Given the description of an element on the screen output the (x, y) to click on. 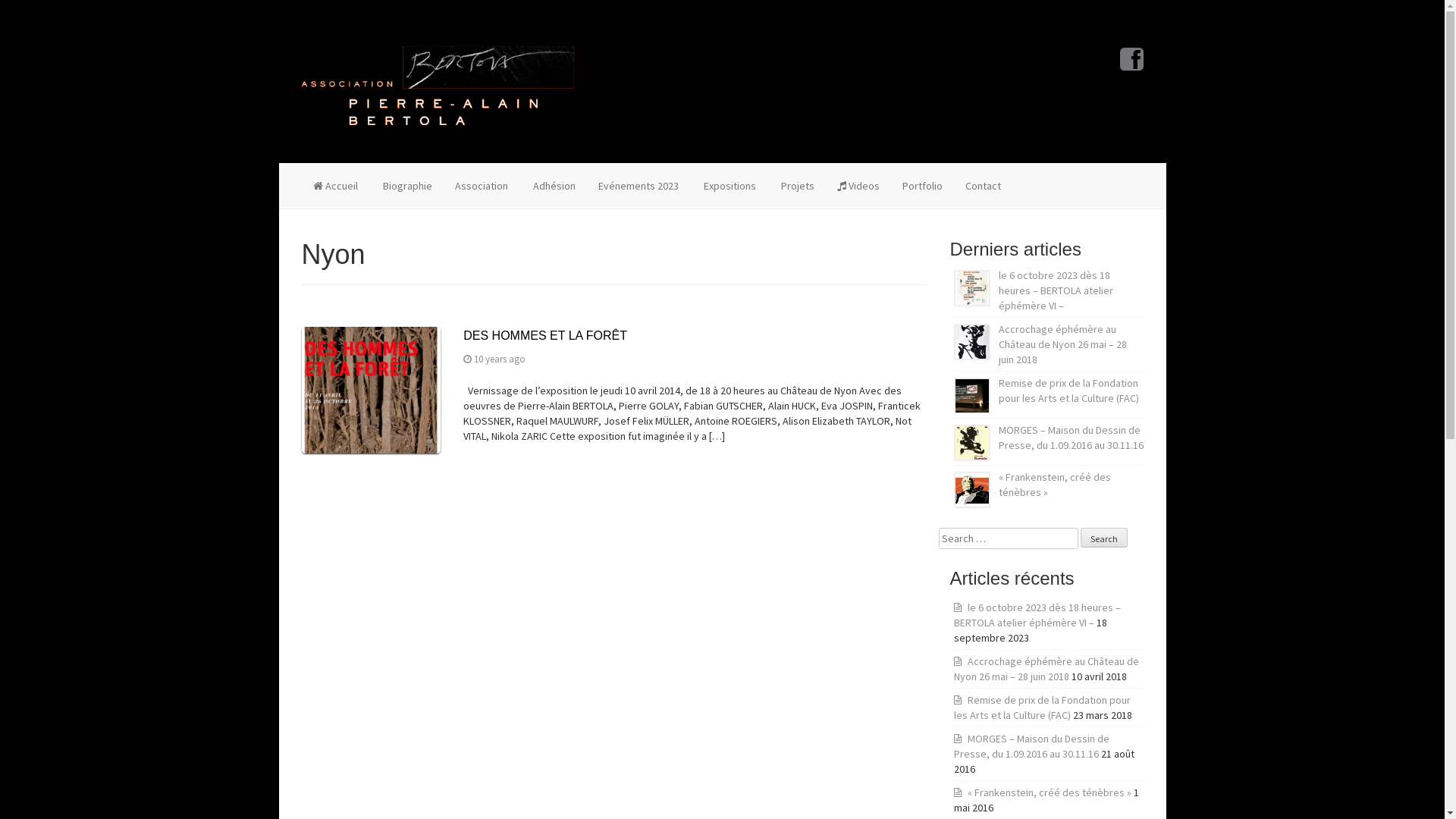
Association Pierre-Alain Bertola Element type: hover (437, 85)
 Biographie Element type: text (405, 185)
 Projets Element type: text (796, 185)
 Videos Element type: text (857, 185)
Contact Element type: text (982, 185)
 Expositions Element type: text (728, 185)
Portfolio Element type: text (921, 185)
Association Element type: text (480, 185)
10 years ago Element type: text (499, 358)
Search Element type: text (1102, 537)
Association Pierre-Alain Bertola Element type: hover (437, 82)
 Accueil Element type: text (335, 185)
Facebook Element type: hover (1130, 65)
